Given the description of an element on the screen output the (x, y) to click on. 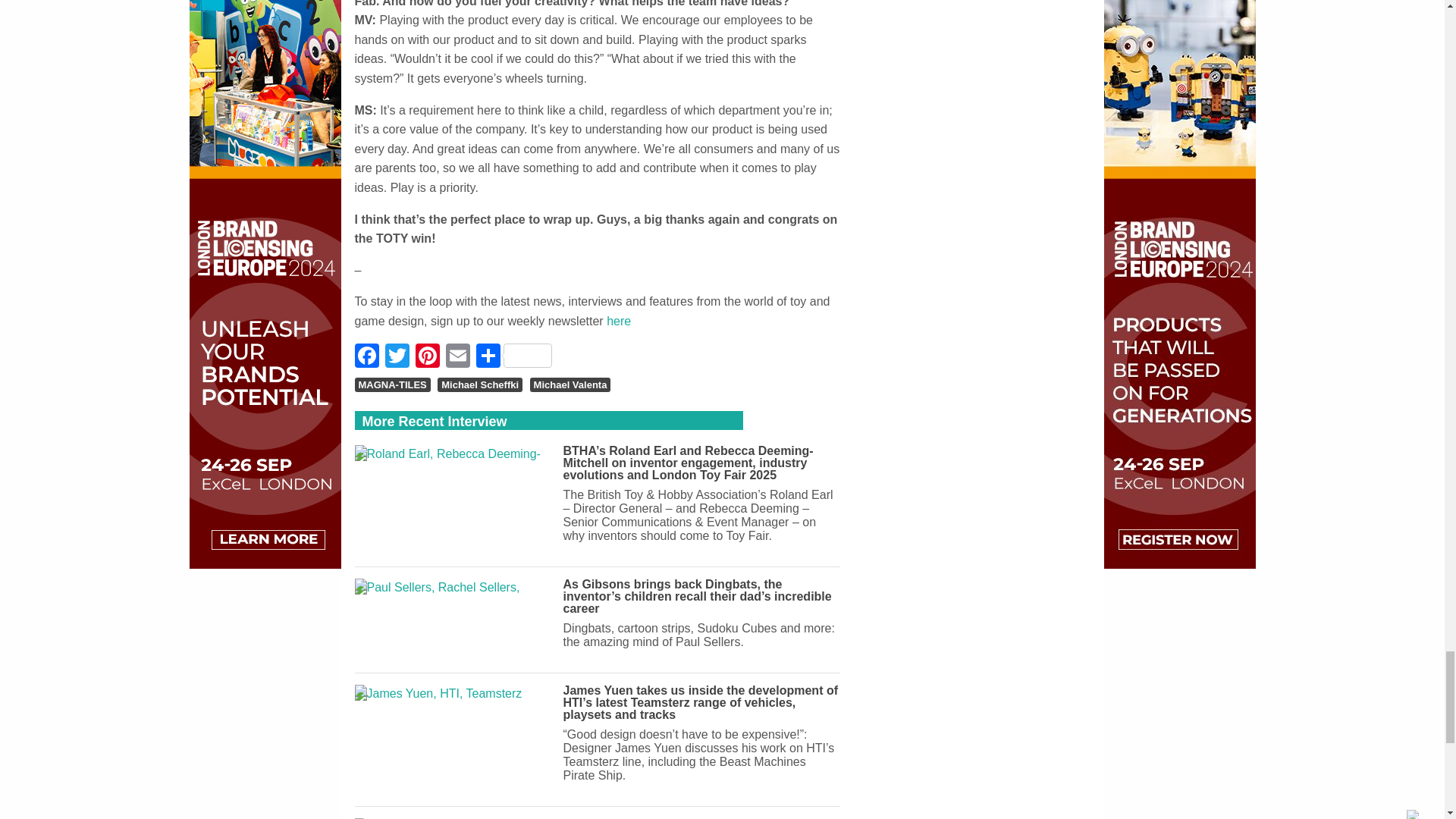
Email (457, 357)
News in MAGNA-TILES (392, 385)
Pinterest (427, 357)
Facebook (368, 357)
MAGNA-TILES (392, 385)
Pinterest (427, 357)
News in Michael Valenta (570, 385)
Facebook (368, 357)
here (618, 320)
Twitter (396, 357)
News in Michael Scheffki (480, 385)
Email (457, 357)
Twitter (396, 357)
